Given the description of an element on the screen output the (x, y) to click on. 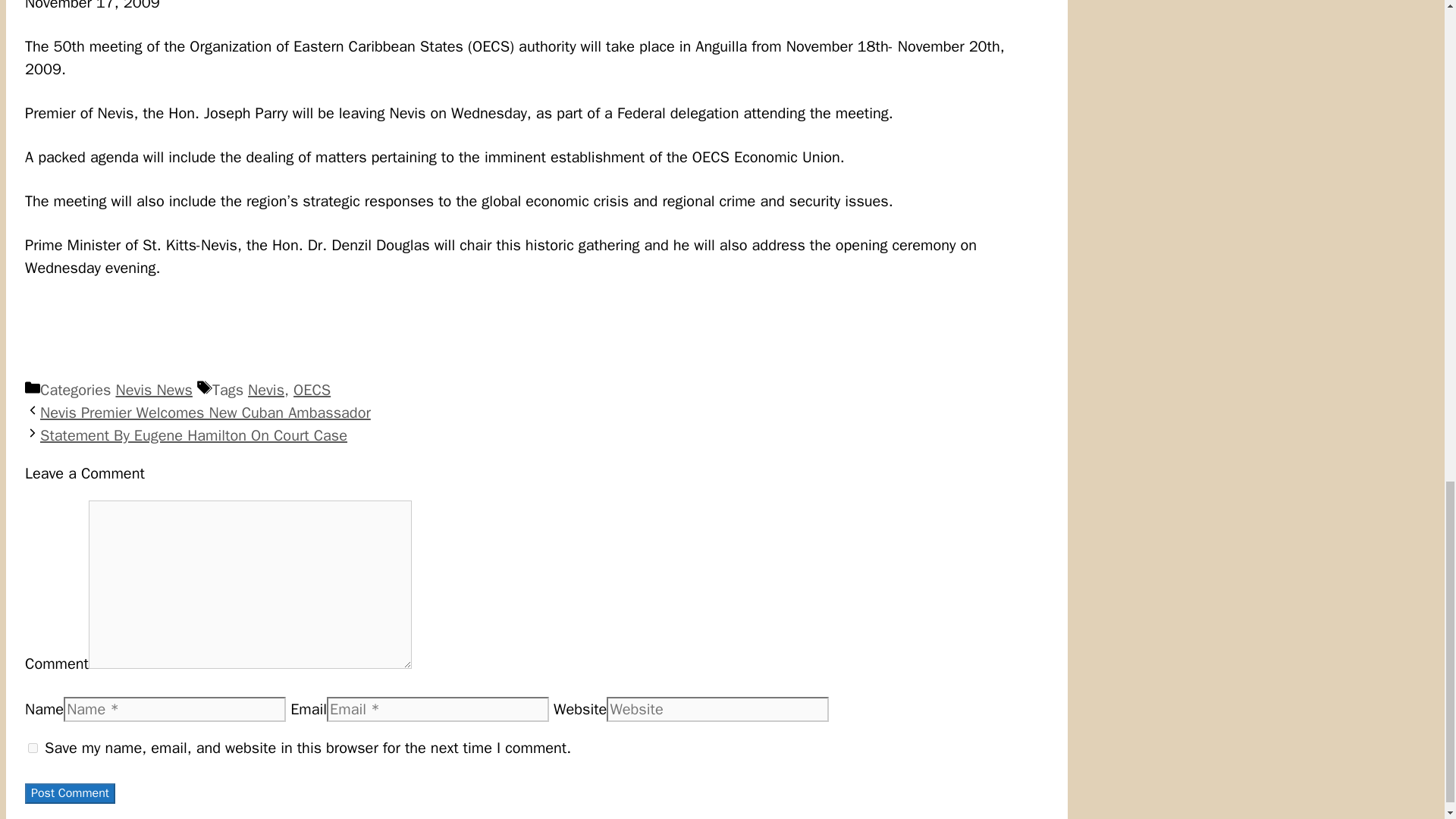
Nevis Premier Welcomes New Cuban Ambassador (205, 412)
Post Comment (69, 792)
Nevis News (153, 389)
yes (32, 747)
Statement By Eugene Hamilton On Court Case (193, 435)
Post Comment (69, 792)
OECS (312, 389)
Nevis (265, 389)
